Given the description of an element on the screen output the (x, y) to click on. 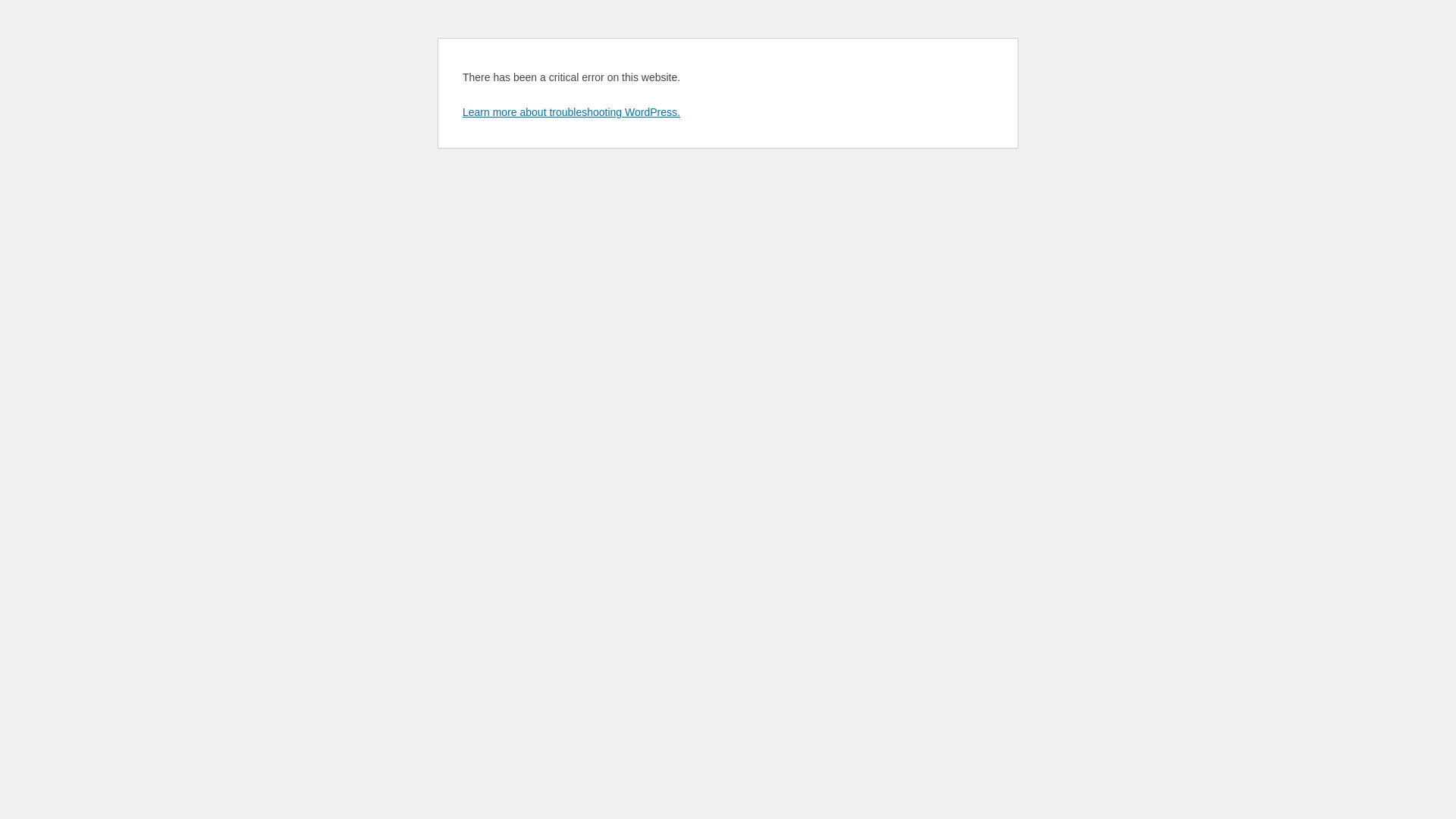
Learn more about troubleshooting WordPress. Element type: text (571, 112)
